Given the description of an element on the screen output the (x, y) to click on. 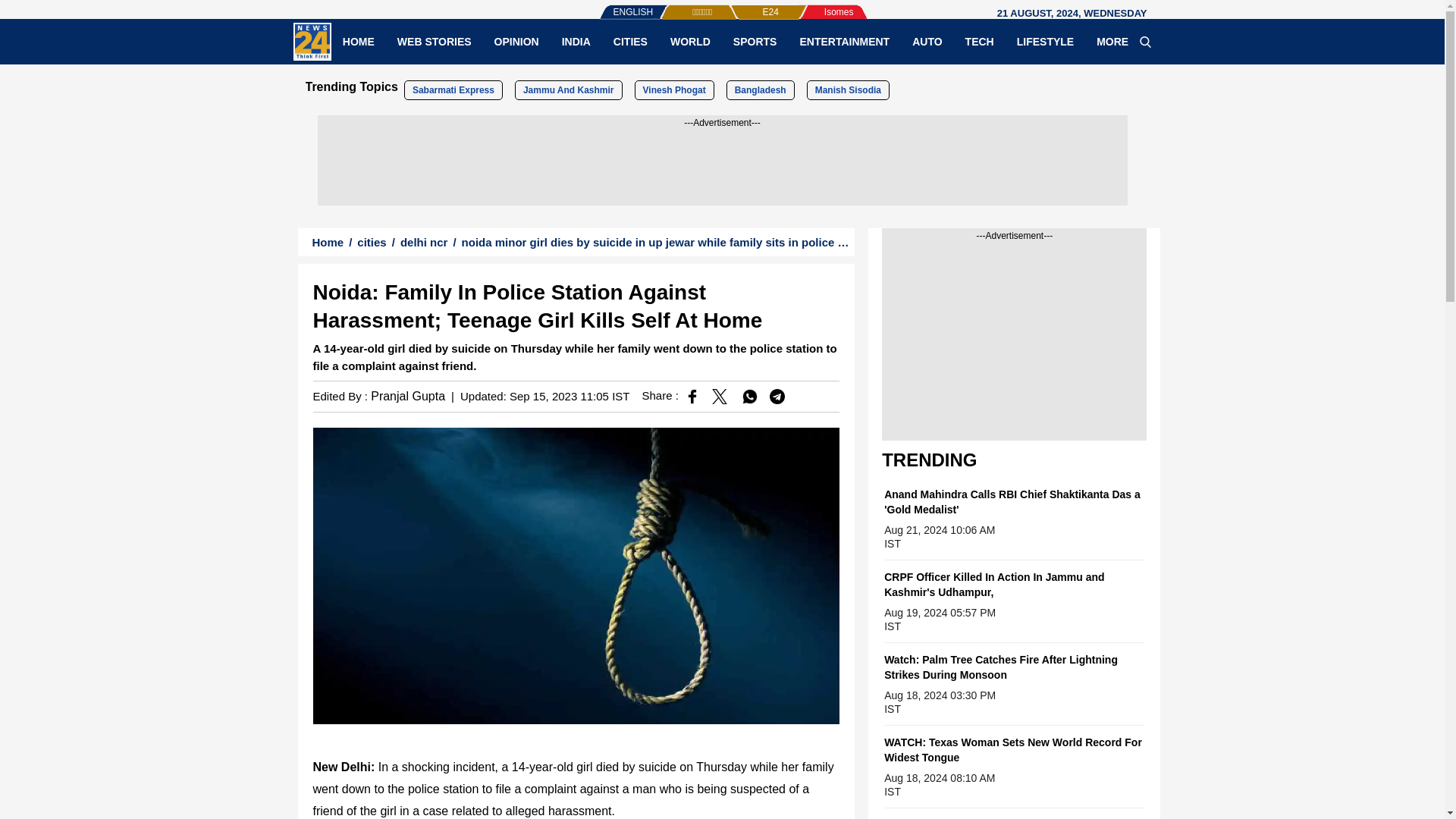
LIFESTYLE (1045, 41)
WORLD (690, 41)
Isomes (814, 4)
ENGLISH (601, 4)
HOME (358, 41)
ENTERTAINMENT (844, 41)
TECH (979, 41)
OPINION (516, 41)
INDIA (576, 41)
CITIES (630, 41)
